Given the description of an element on the screen output the (x, y) to click on. 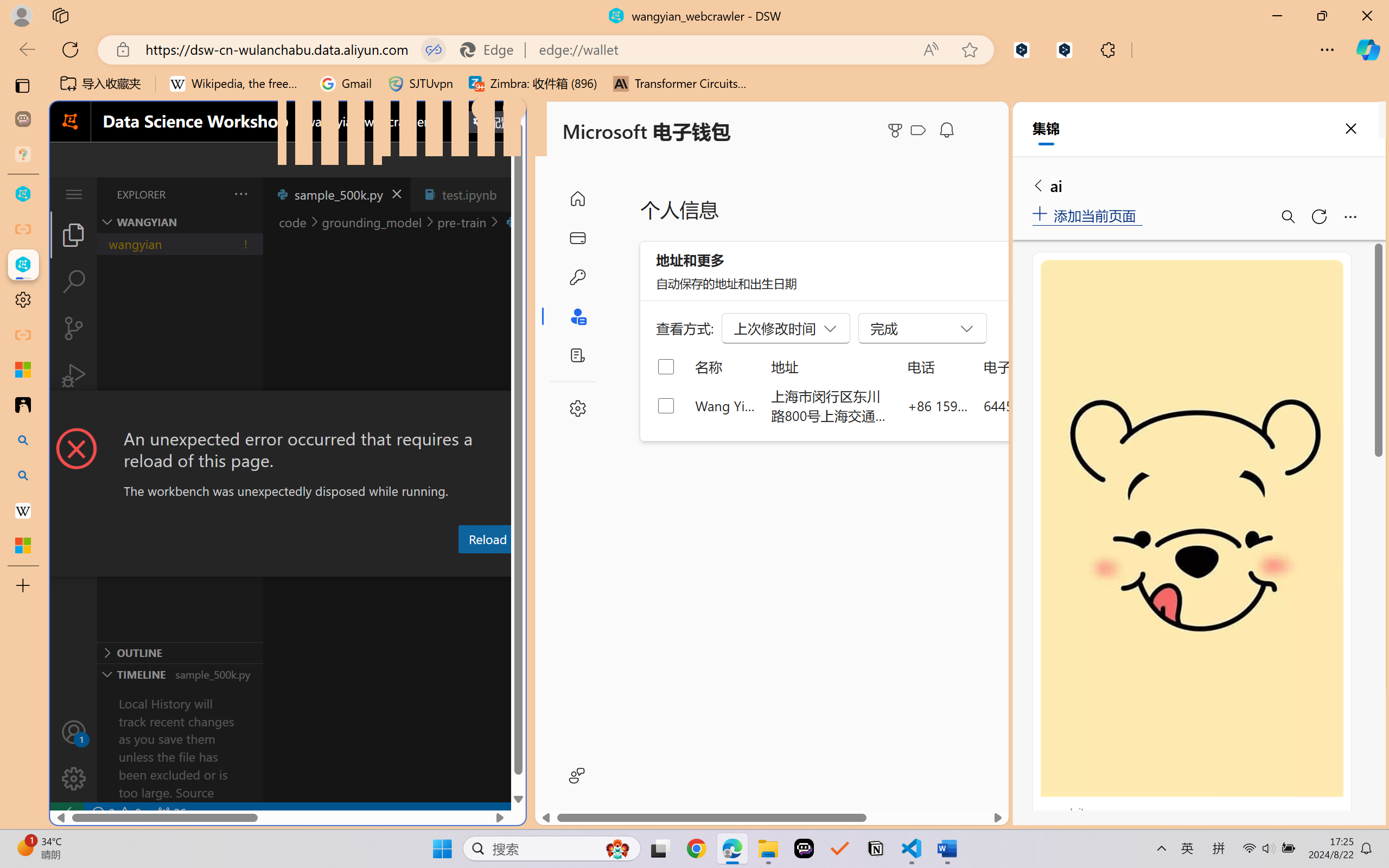
Outline Section (179, 652)
Timeline Section (179, 673)
Gmail (345, 83)
Explorer (Ctrl+Shift+E) (73, 234)
SJTUvpn (419, 83)
test.ipynb (468, 194)
Explorer Section: wangyian (179, 221)
Application Menu (73, 194)
